Given the description of an element on the screen output the (x, y) to click on. 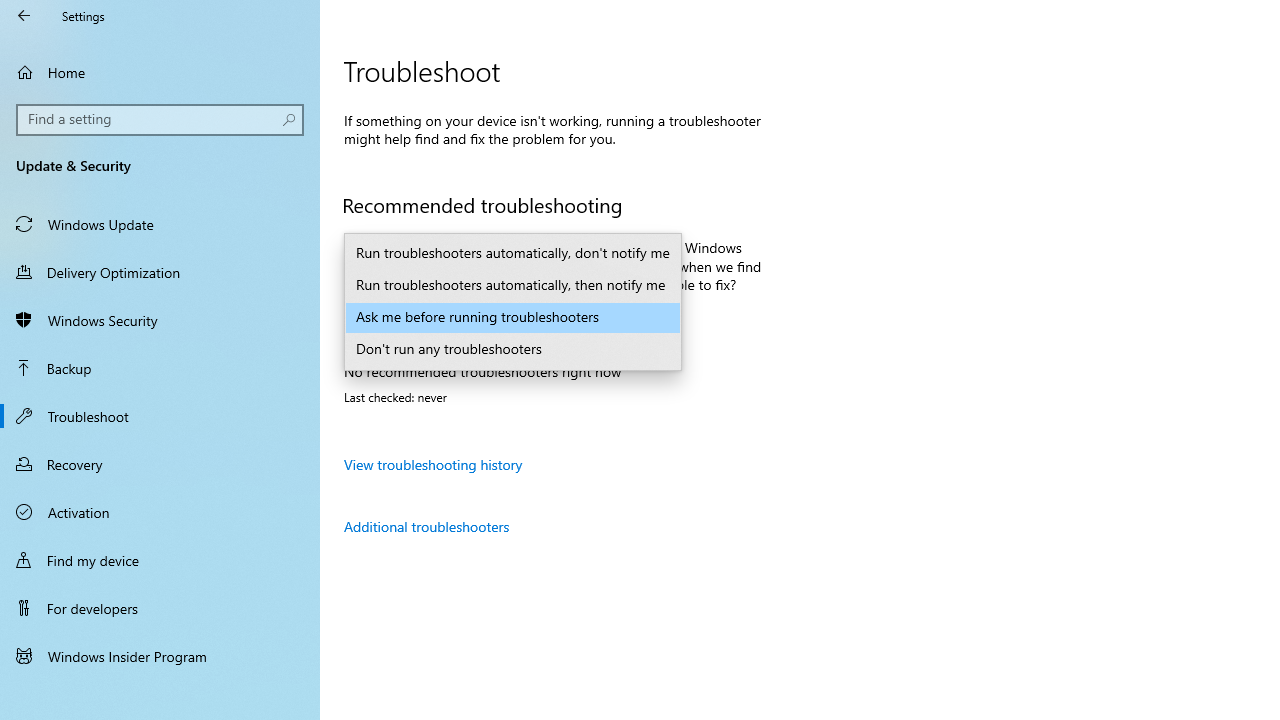
Ask me before running troubleshooters (512, 317)
Don't run any troubleshooters (512, 349)
Find my device (160, 559)
Additional troubleshooters (426, 525)
